Given the description of an element on the screen output the (x, y) to click on. 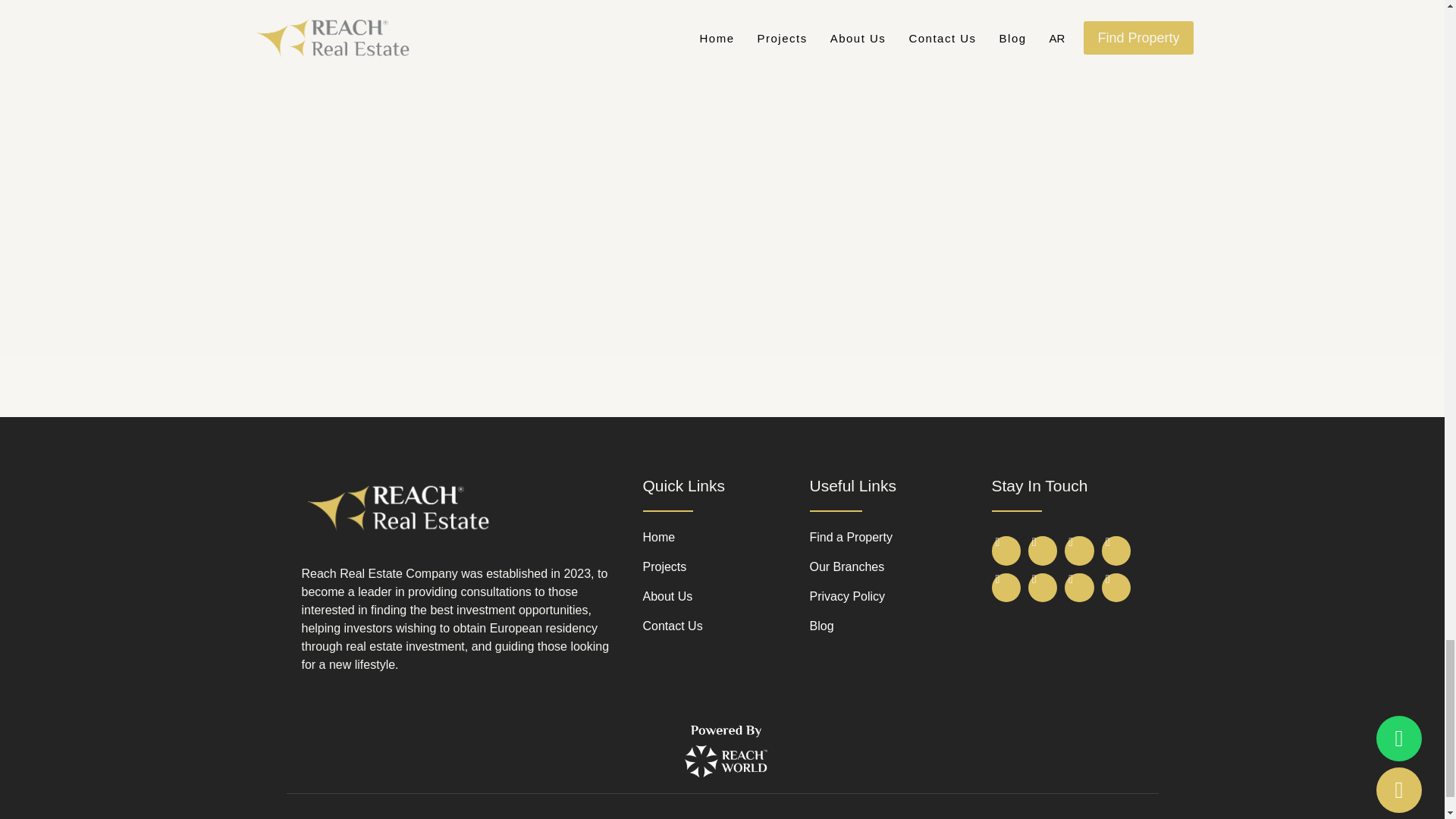
About Us (726, 597)
Blog (896, 626)
Privacy Policy (896, 597)
Projects (726, 566)
SEND NOW (675, 251)
Find a Property (896, 537)
Our Branches (896, 566)
Home (726, 537)
Contact Us (726, 626)
